Given the description of an element on the screen output the (x, y) to click on. 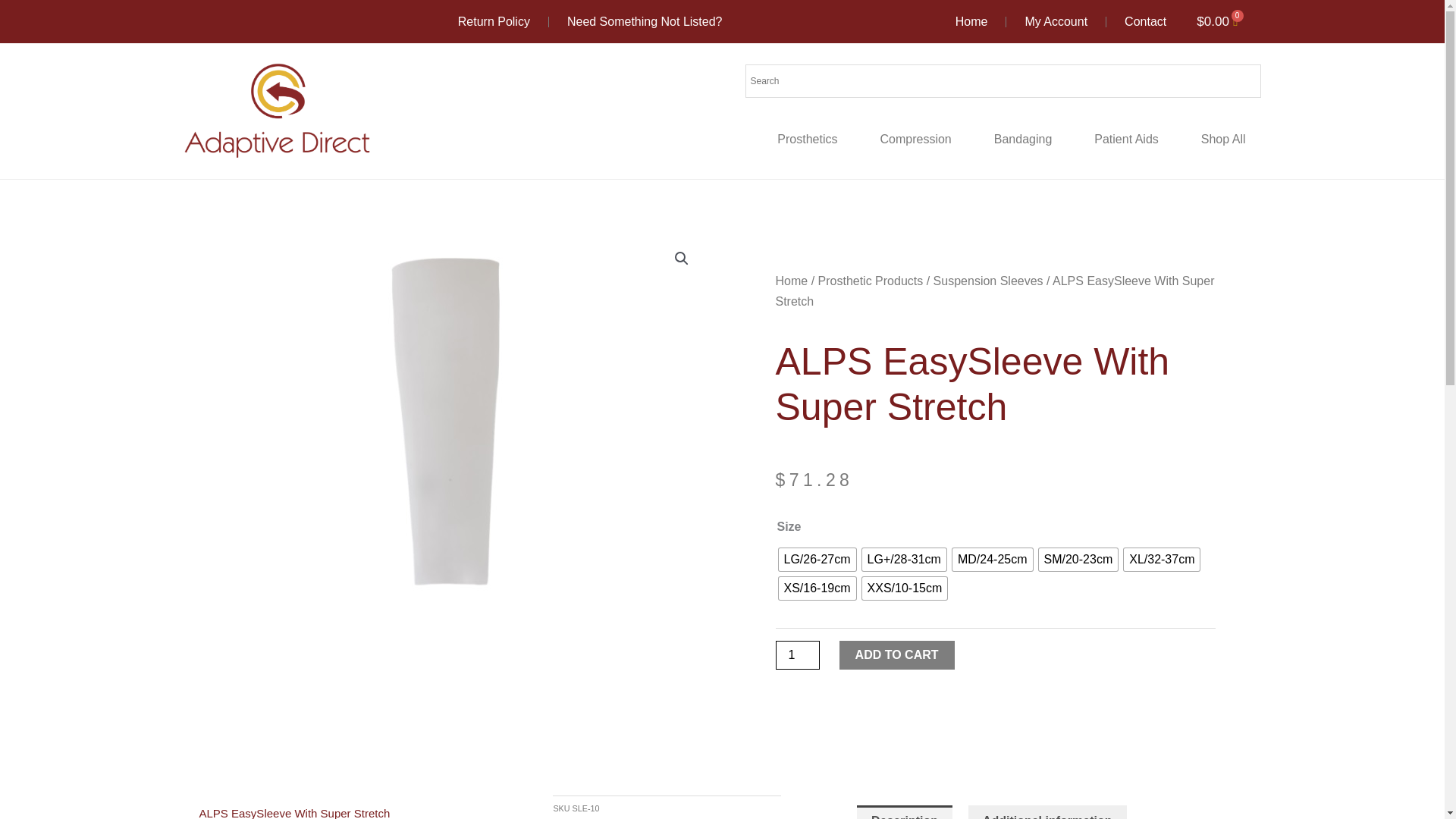
Compression (915, 139)
Home (971, 21)
Return Policy (493, 21)
My Account (1056, 21)
Bandaging (1022, 139)
1 (796, 654)
Need Something Not Listed? (644, 21)
Prosthetics (806, 139)
Contact (1145, 21)
